Given the description of an element on the screen output the (x, y) to click on. 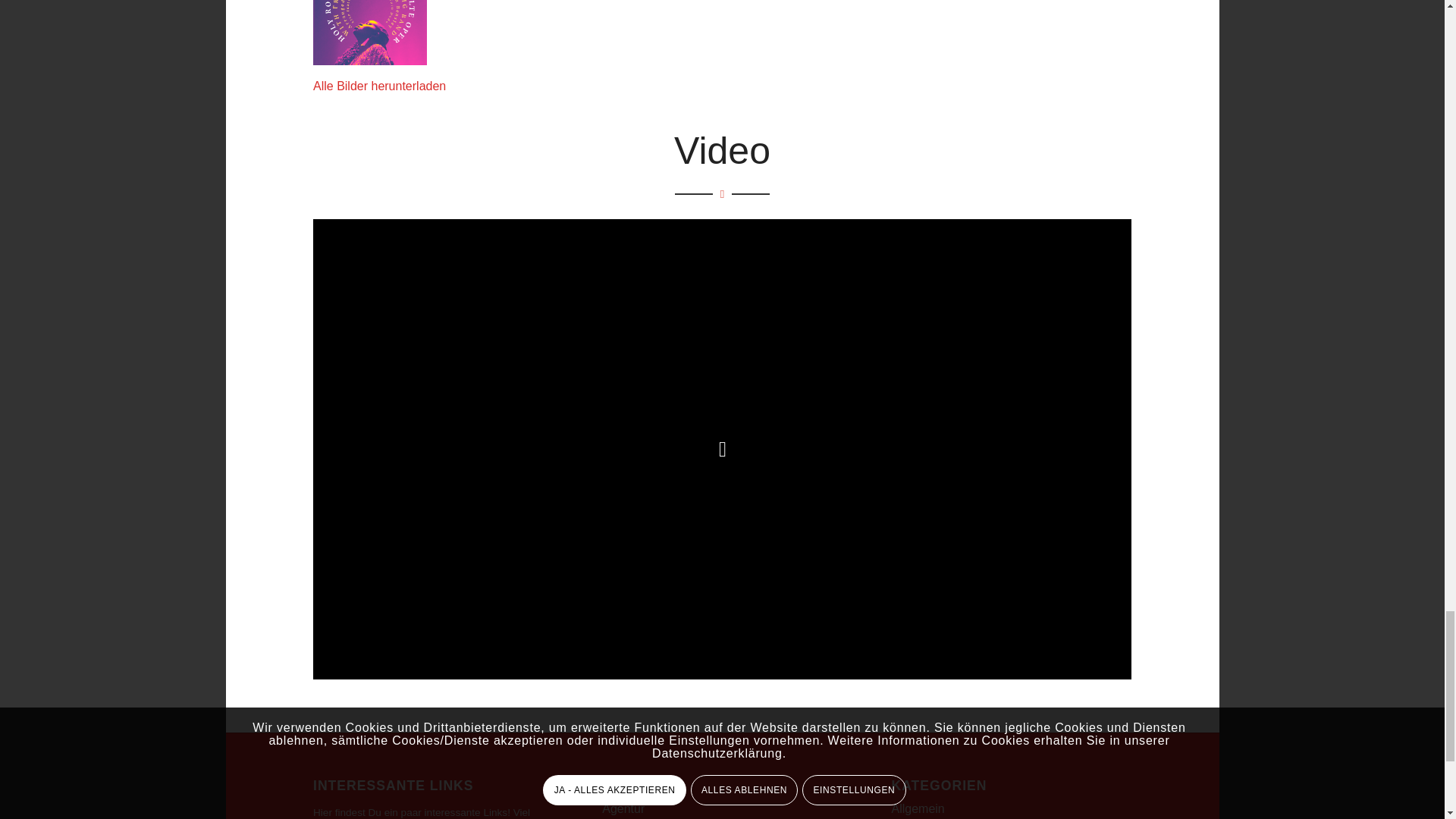
Agentur (623, 808)
Allgemein (917, 808)
Alle Bilder herunterladen (379, 85)
cover Holy Room (369, 32)
